Given the description of an element on the screen output the (x, y) to click on. 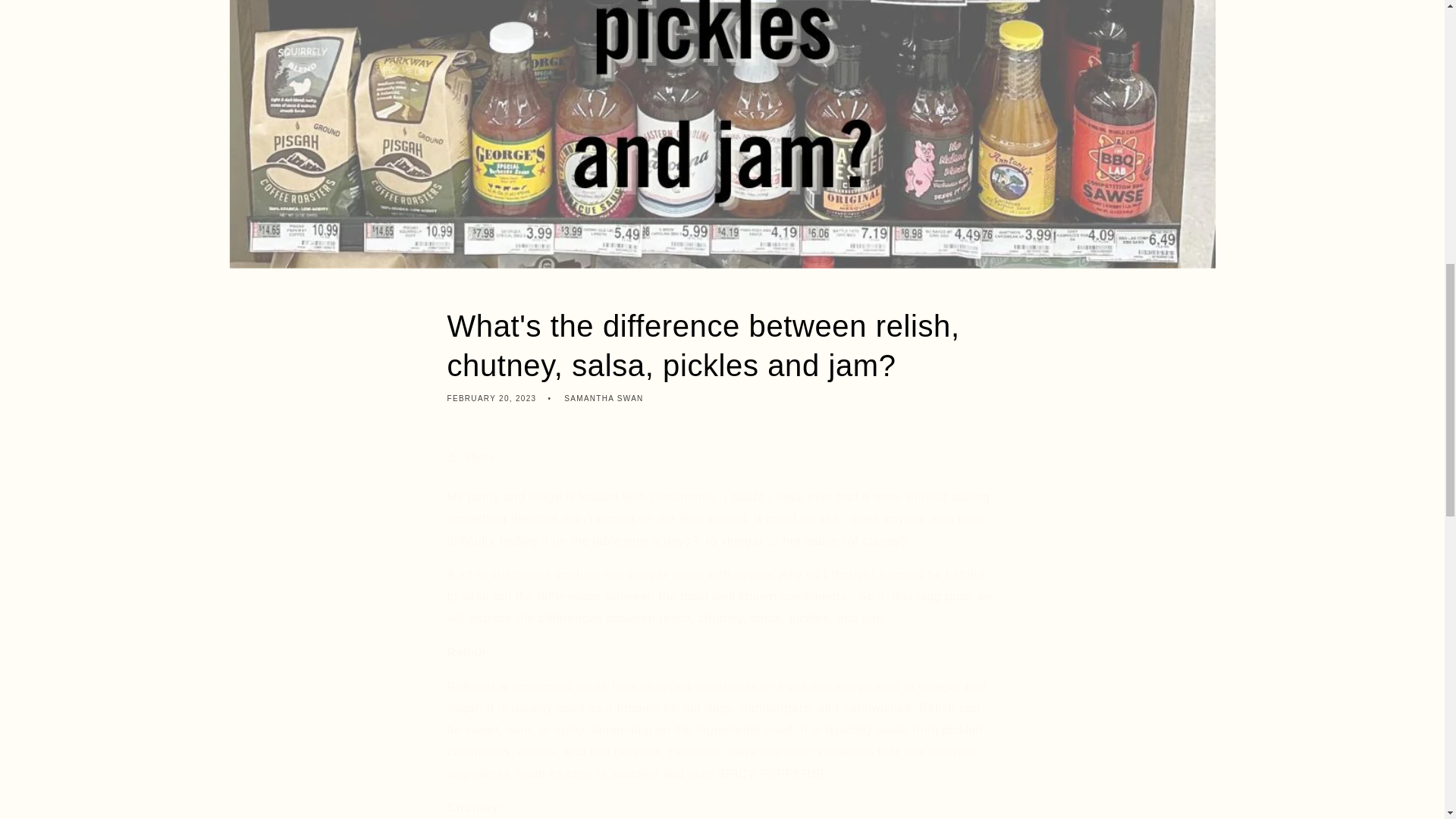
Share (721, 458)
